Given the description of an element on the screen output the (x, y) to click on. 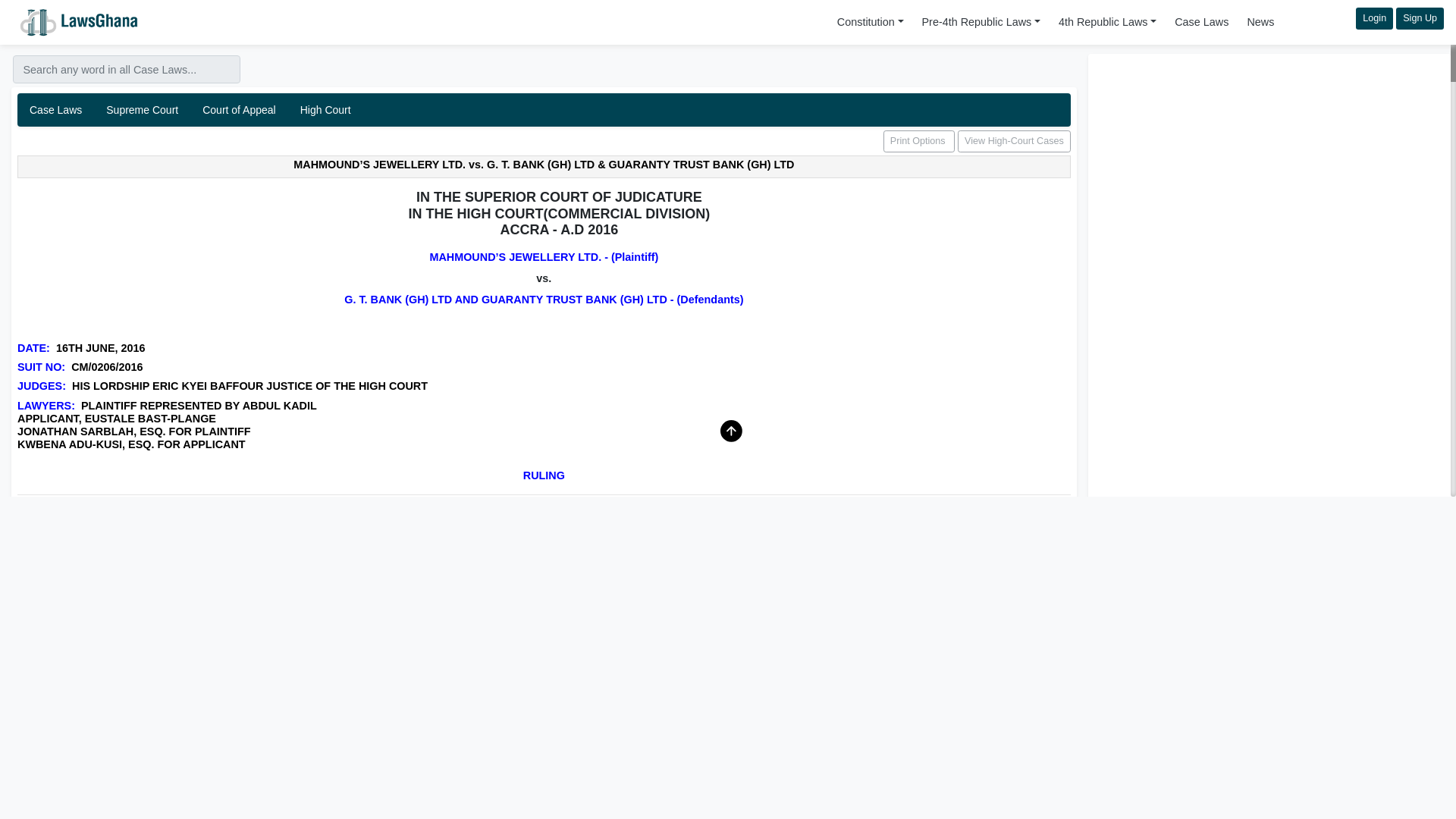
4th Republic Laws (1106, 21)
Case Laws (1201, 21)
Court of Appeal (239, 109)
View High-Court Cases (543, 109)
Supreme Court (1014, 141)
High Court (142, 109)
Sign Up (325, 109)
Constitution (1420, 18)
Case Laws (870, 21)
